Given the description of an element on the screen output the (x, y) to click on. 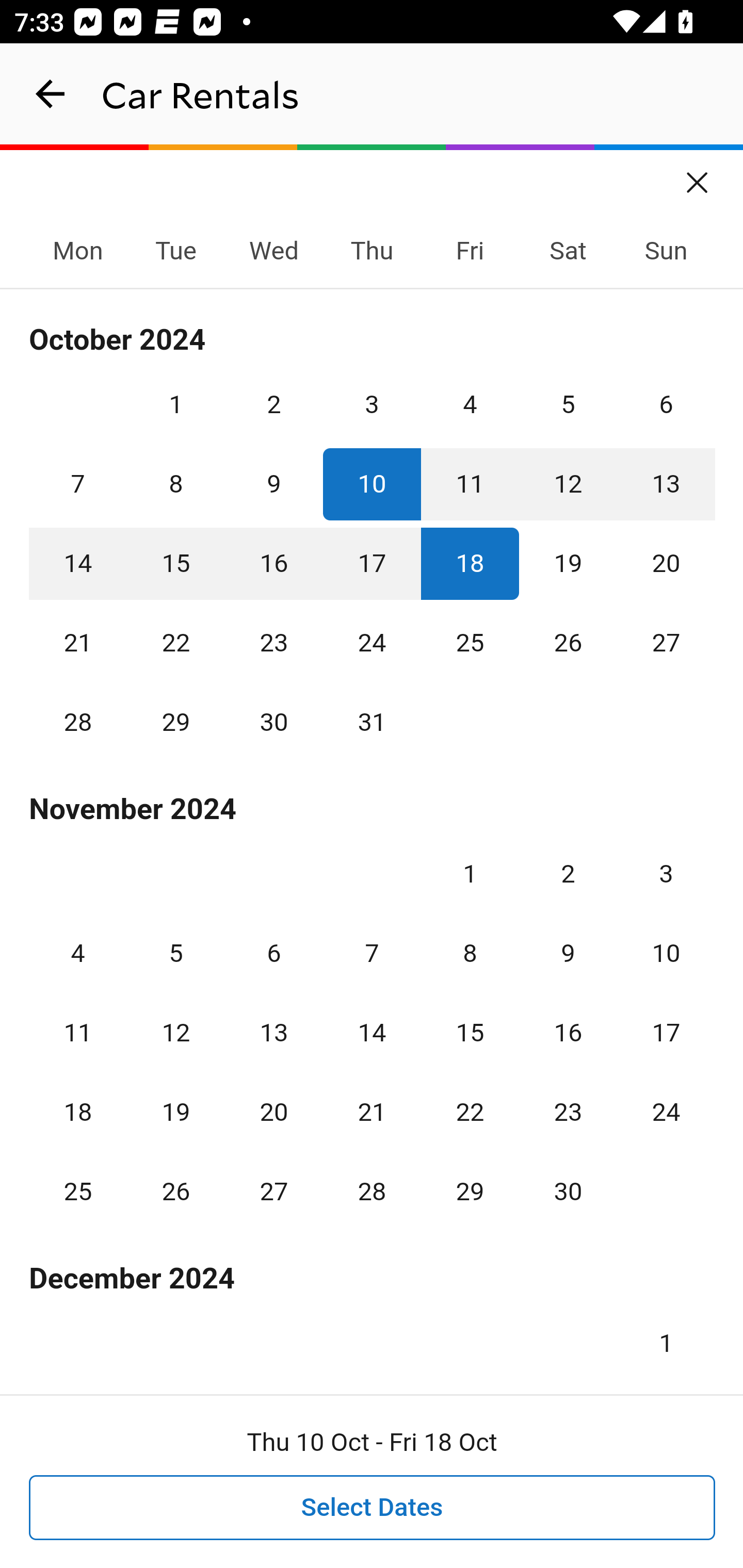
navigation_button (50, 93)
Close (697, 176)
1 October 2024 (175, 404)
2 October 2024 (273, 404)
3 October 2024 (371, 404)
4 October 2024 (470, 404)
5 October 2024 (567, 404)
6 October 2024 (665, 404)
7 October 2024 (77, 484)
8 October 2024 (175, 484)
9 October 2024 (273, 484)
10 October 2024 (371, 484)
11 October 2024 (470, 484)
12 October 2024 (567, 484)
13 October 2024 (665, 484)
14 October 2024 (77, 563)
15 October 2024 (175, 563)
16 October 2024 (273, 563)
17 October 2024 (371, 563)
18 October 2024 (470, 563)
19 October 2024 (567, 563)
20 October 2024 (665, 563)
21 October 2024 (77, 642)
22 October 2024 (175, 642)
23 October 2024 (273, 642)
24 October 2024 (371, 642)
25 October 2024 (470, 642)
26 October 2024 (567, 642)
27 October 2024 (665, 642)
28 October 2024 (77, 722)
29 October 2024 (175, 722)
30 October 2024 (273, 722)
31 October 2024 (371, 722)
1 November 2024 (470, 873)
2 November 2024 (567, 873)
3 November 2024 (665, 873)
4 November 2024 (77, 952)
5 November 2024 (175, 952)
6 November 2024 (273, 952)
7 November 2024 (371, 952)
8 November 2024 (470, 952)
9 November 2024 (567, 952)
10 November 2024 (665, 952)
11 November 2024 (77, 1032)
12 November 2024 (175, 1032)
13 November 2024 (273, 1032)
14 November 2024 (371, 1032)
15 November 2024 (470, 1032)
16 November 2024 (567, 1032)
17 November 2024 (665, 1032)
